Given the description of an element on the screen output the (x, y) to click on. 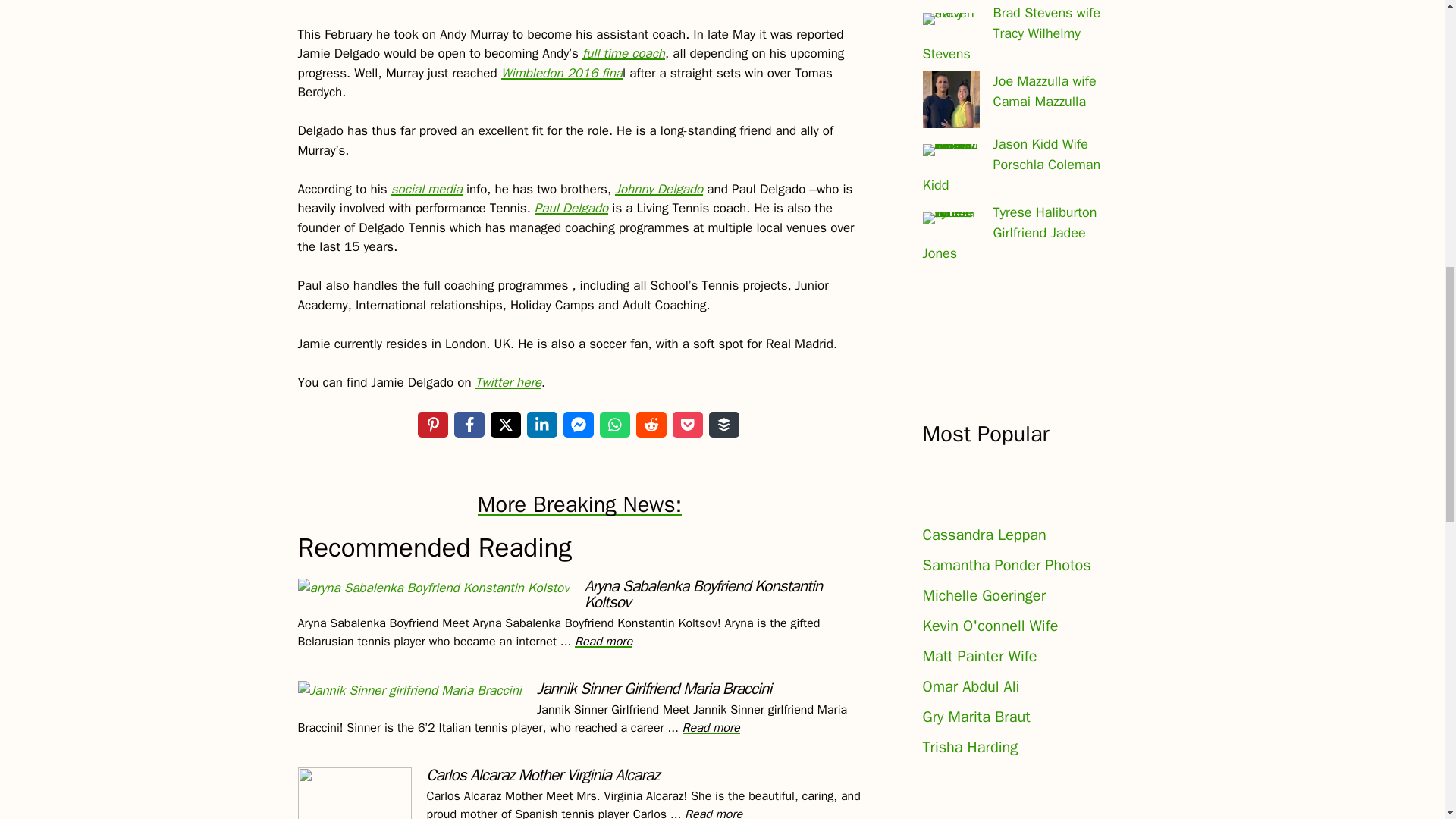
Jannik Sinner Girlfriend Maria Braccini (710, 727)
Aryna Sabalenka Boyfriend Konstantin Koltsov (603, 641)
Carlos Alcaraz Mother Virginia Alcaraz (713, 812)
